Given the description of an element on the screen output the (x, y) to click on. 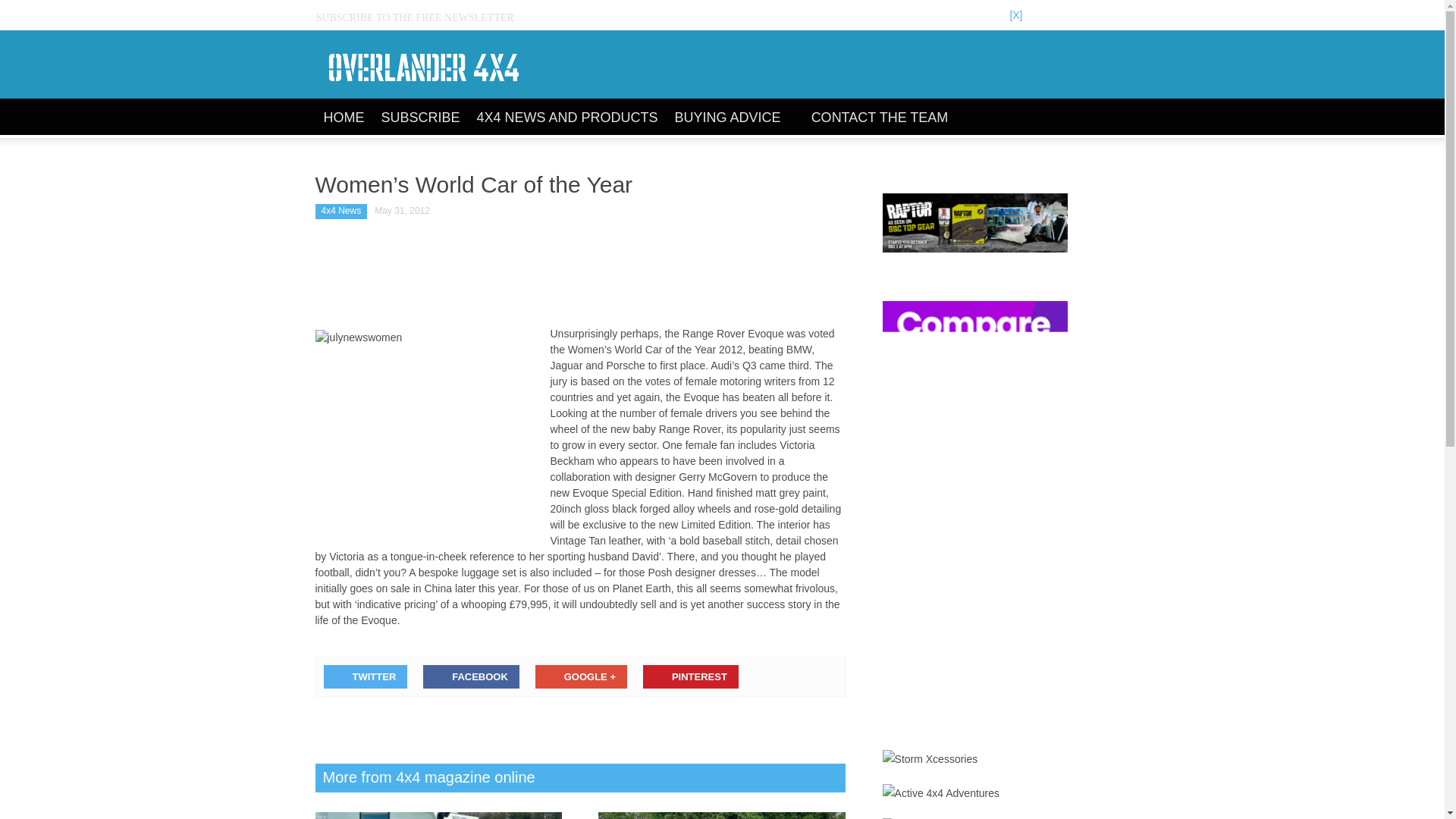
U Pol (974, 222)
SUBSCRIBE (420, 118)
FACEBOOK (471, 676)
Jeepey (905, 818)
HOME (343, 118)
Storm Xcessories (930, 759)
Advertisement (580, 276)
PINTEREST (690, 676)
Active 4x4 Adventures (941, 792)
4x4 News (341, 211)
